Given the description of an element on the screen output the (x, y) to click on. 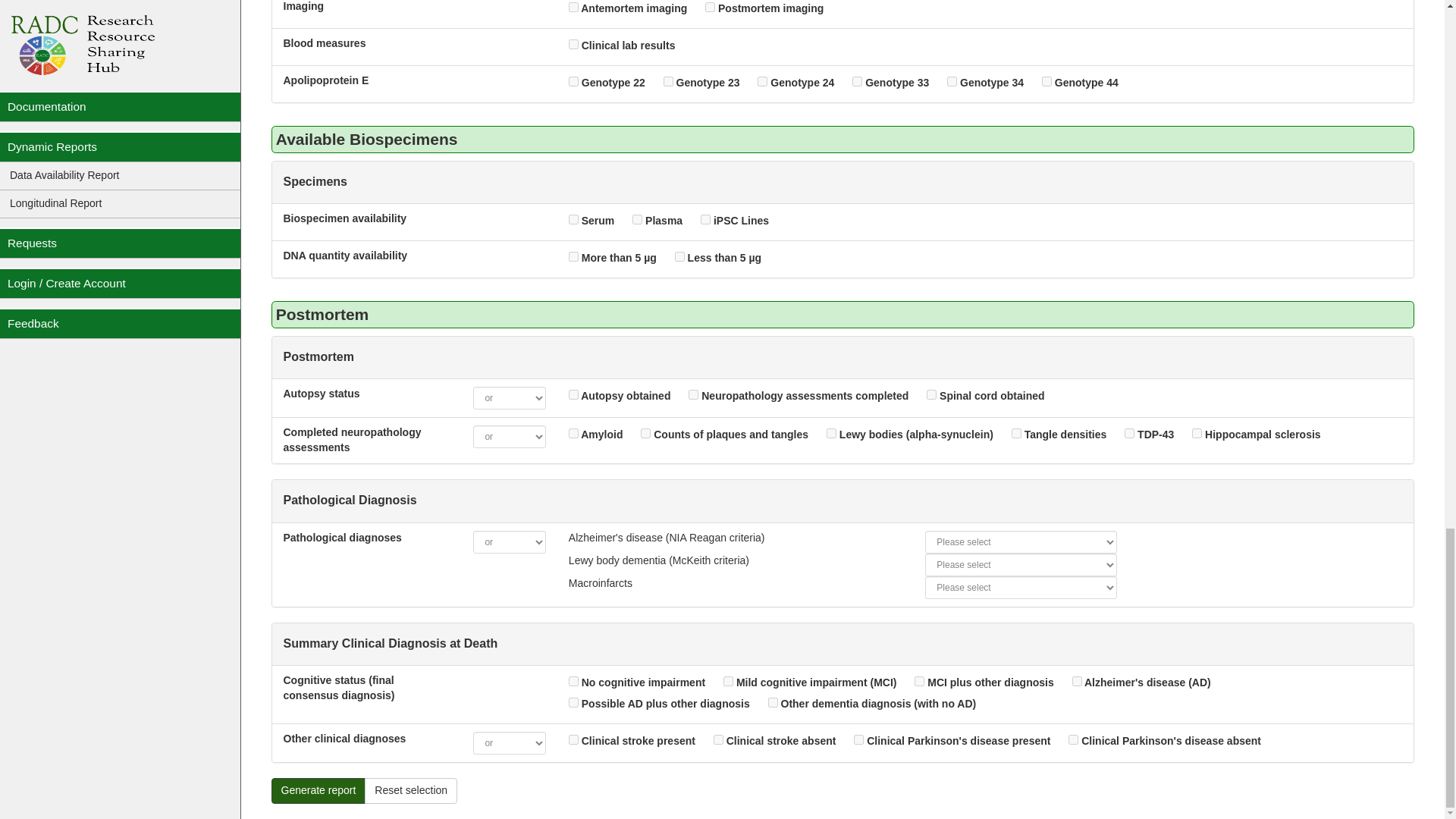
Generate report (318, 790)
Reset selection (411, 790)
